Given the description of an element on the screen output the (x, y) to click on. 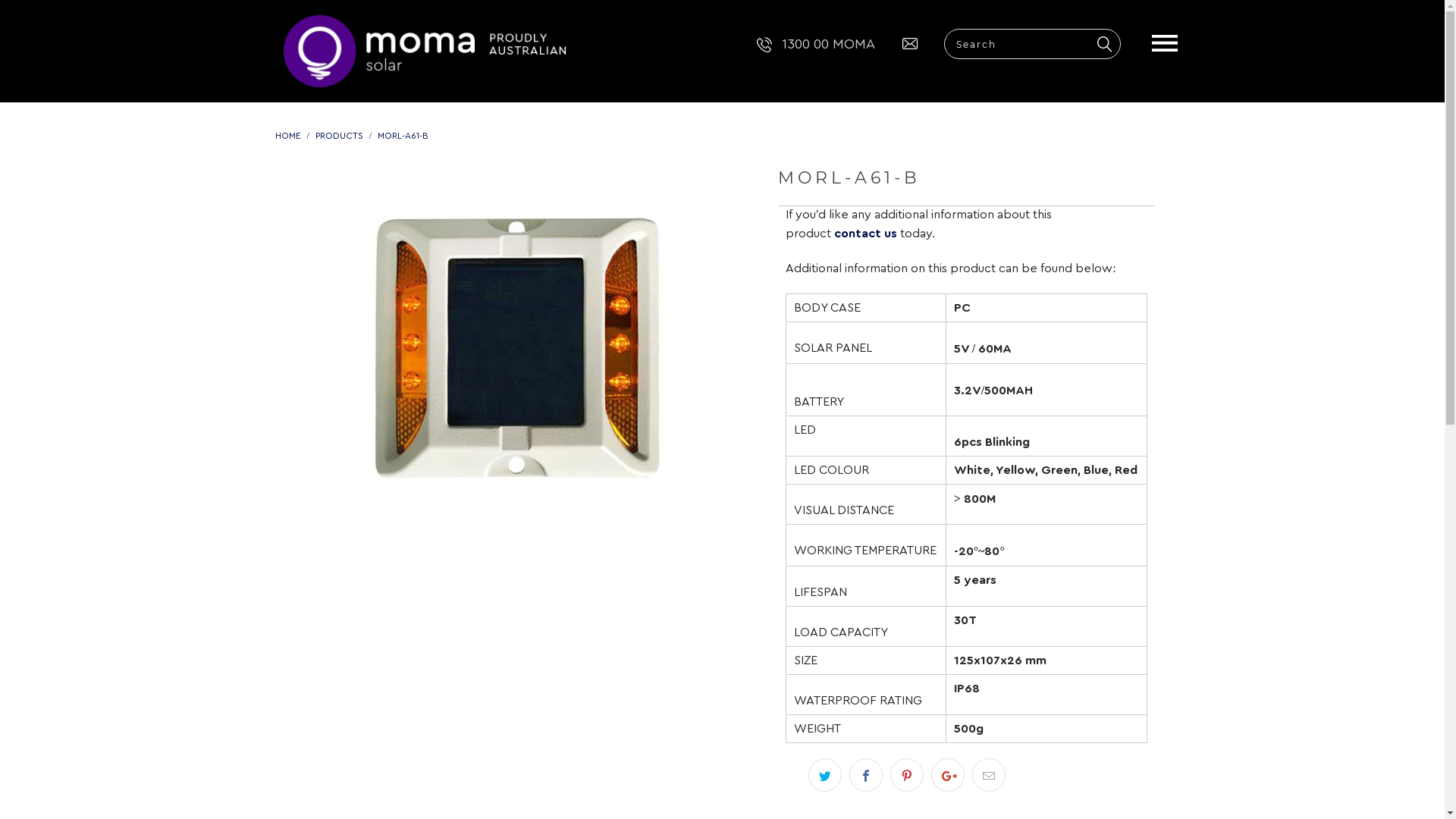
contact us Element type: text (865, 233)
Share this on Pinterest Element type: hover (906, 774)
Share this on Google+ Element type: hover (947, 774)
Email this to a friend Element type: hover (988, 774)
HOME Element type: text (287, 135)
MORL-A61-B Element type: text (402, 135)
Share this on Facebook Element type: hover (865, 774)
1300 00 MOMA Element type: text (812, 44)
Share this on Twitter Element type: hover (824, 774)
Momasolar Element type: hover (456, 50)
PRODUCTS Element type: text (340, 135)
